Given the description of an element on the screen output the (x, y) to click on. 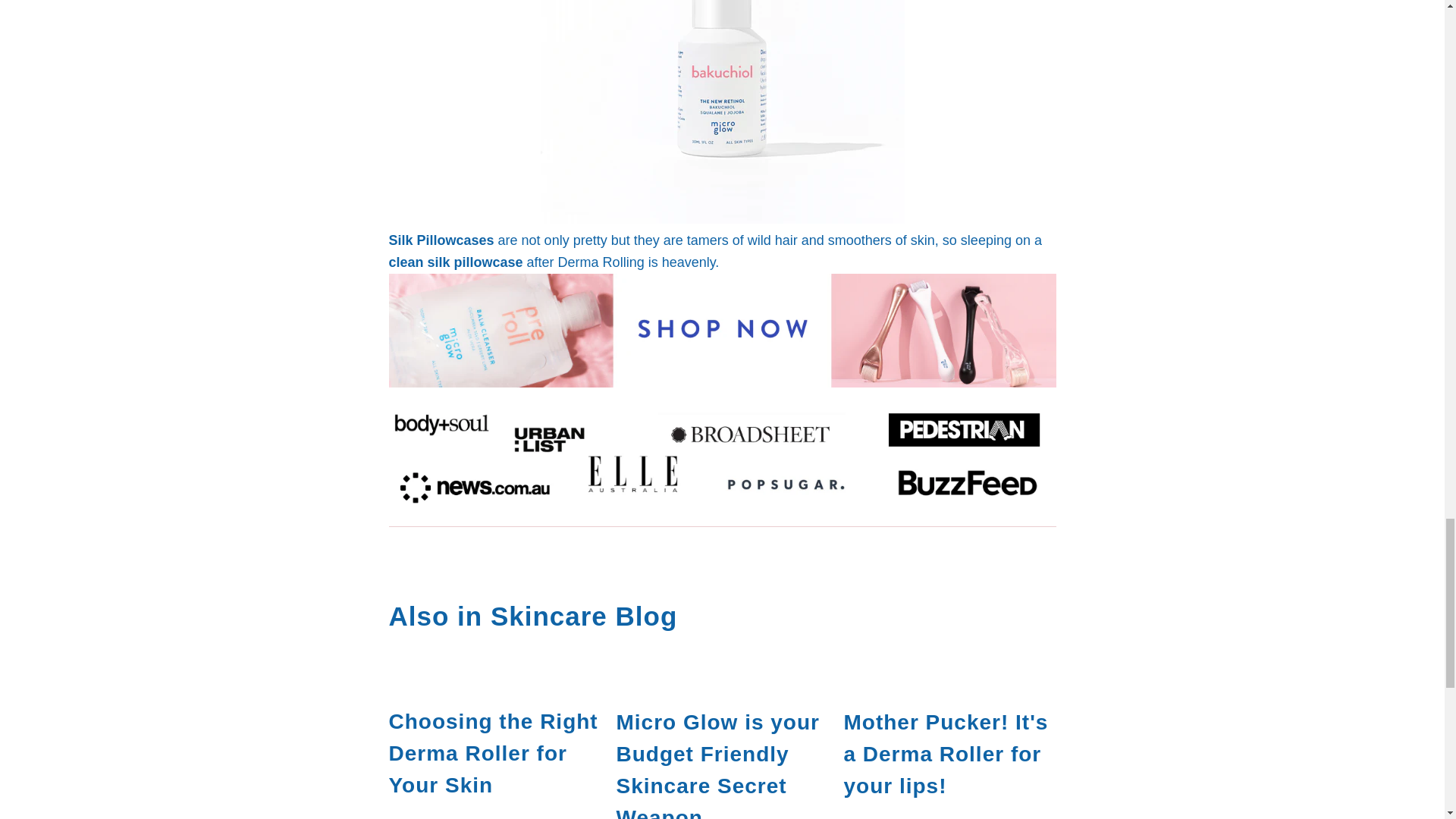
Micro Glow is your Budget Friendly Skincare Secret Weapon (716, 764)
Choosing the Right Derma Roller for Your Skin (493, 675)
Mother Pucker!  It's a Derma Roller for your lips! (945, 753)
Mother Pucker!  It's a Derma Roller for your lips! (949, 675)
Micro Glow is your Budget Friendly Skincare Secret Weapon (721, 675)
Choosing the Right Derma Roller for Your Skin (492, 753)
